Given the description of an element on the screen output the (x, y) to click on. 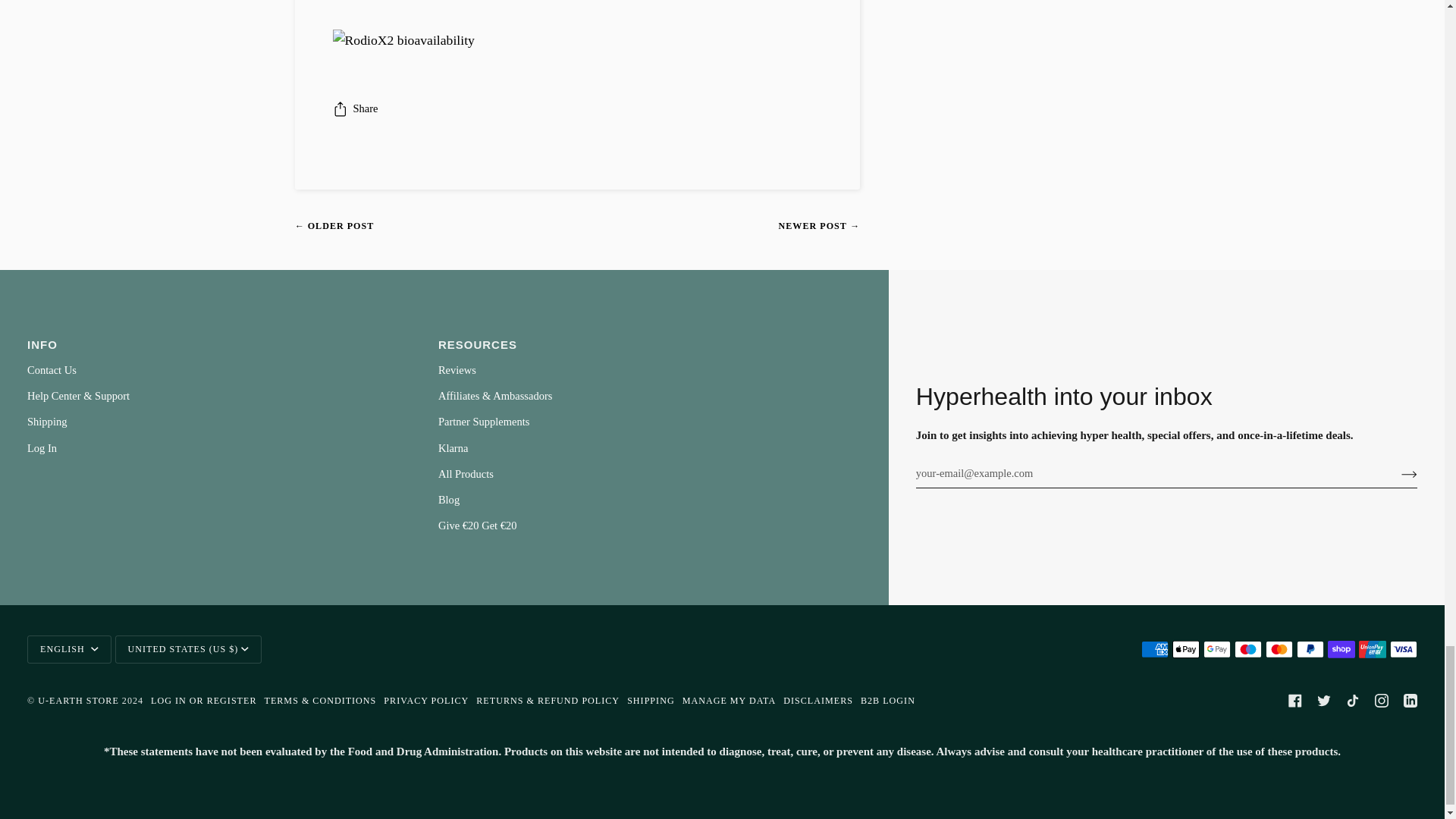
UNION PAY (1372, 648)
Instagram (1381, 700)
PAYPAL (1310, 648)
MASTERCARD (1278, 648)
GOOGLE PAY (1217, 648)
Linkedin (1409, 700)
AMERICAN EXPRESS (1155, 648)
VISA (1403, 648)
Twitter (1323, 700)
Facebook (1294, 700)
MAESTRO (1248, 648)
SHOP PAY (1341, 648)
APPLE PAY (1185, 648)
Tiktok (1352, 700)
